Given the description of an element on the screen output the (x, y) to click on. 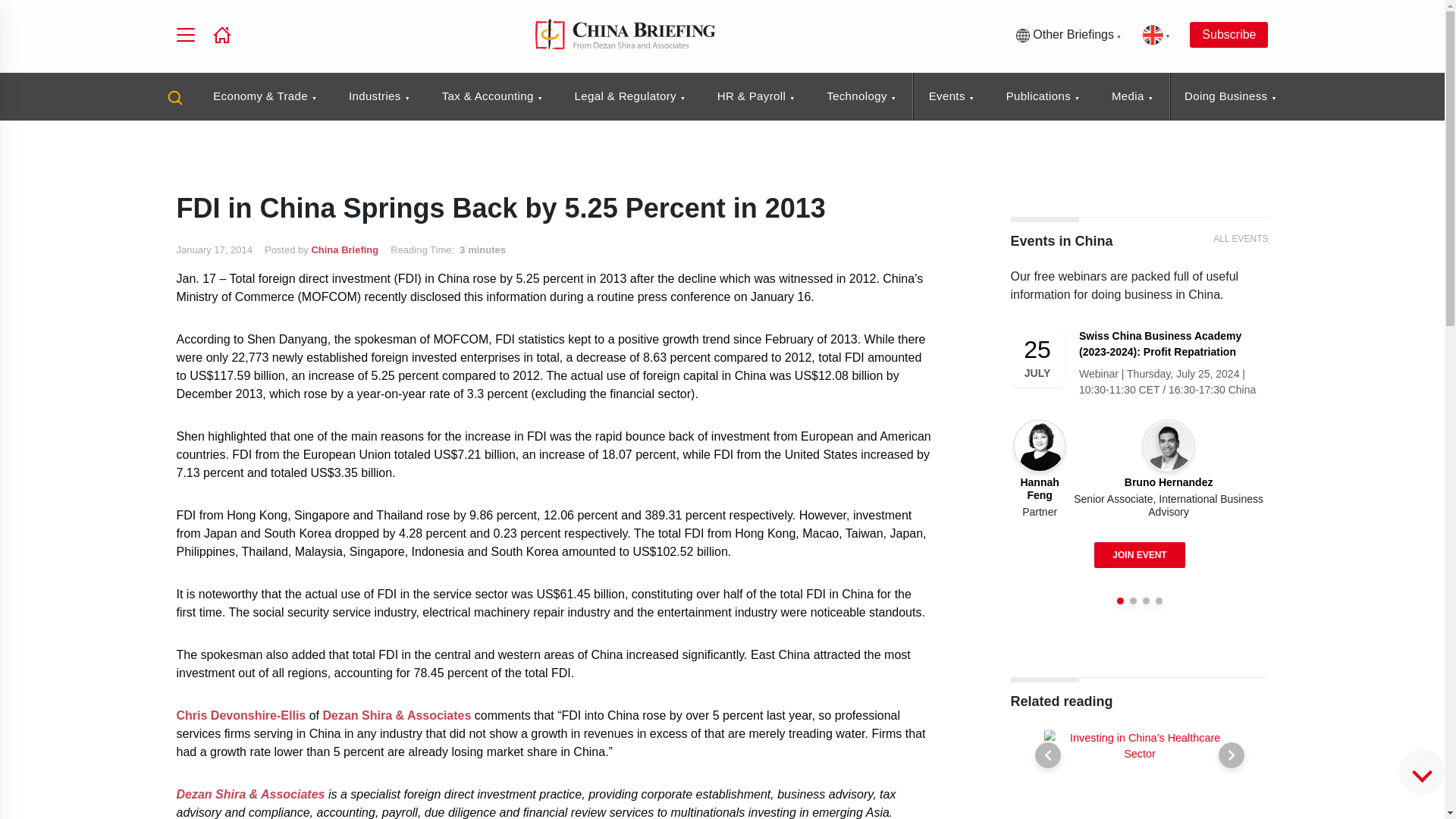
View all posts by China Briefing (344, 249)
